Given the description of an element on the screen output the (x, y) to click on. 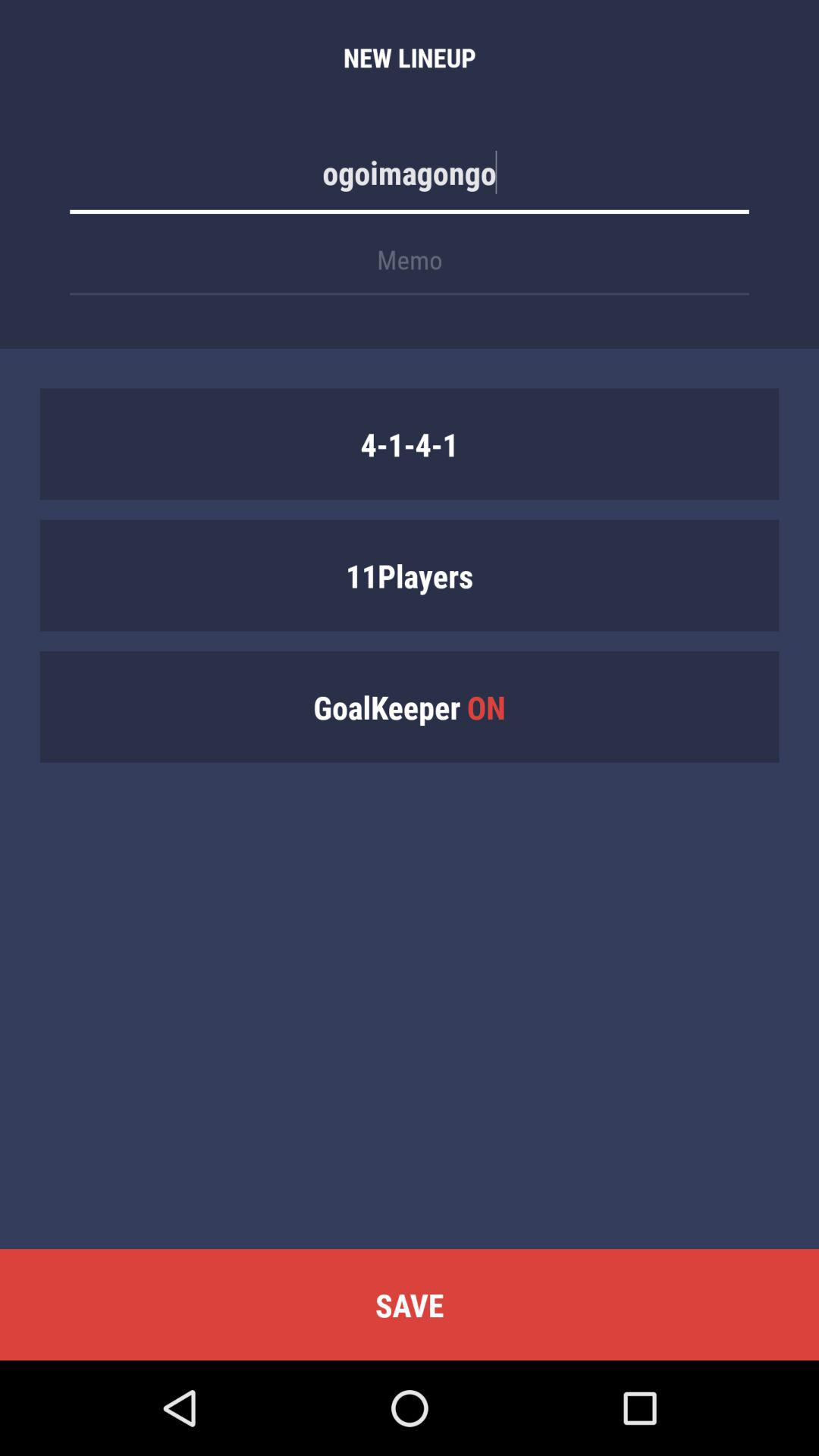
scroll until 4 1 4 icon (409, 443)
